Given the description of an element on the screen output the (x, y) to click on. 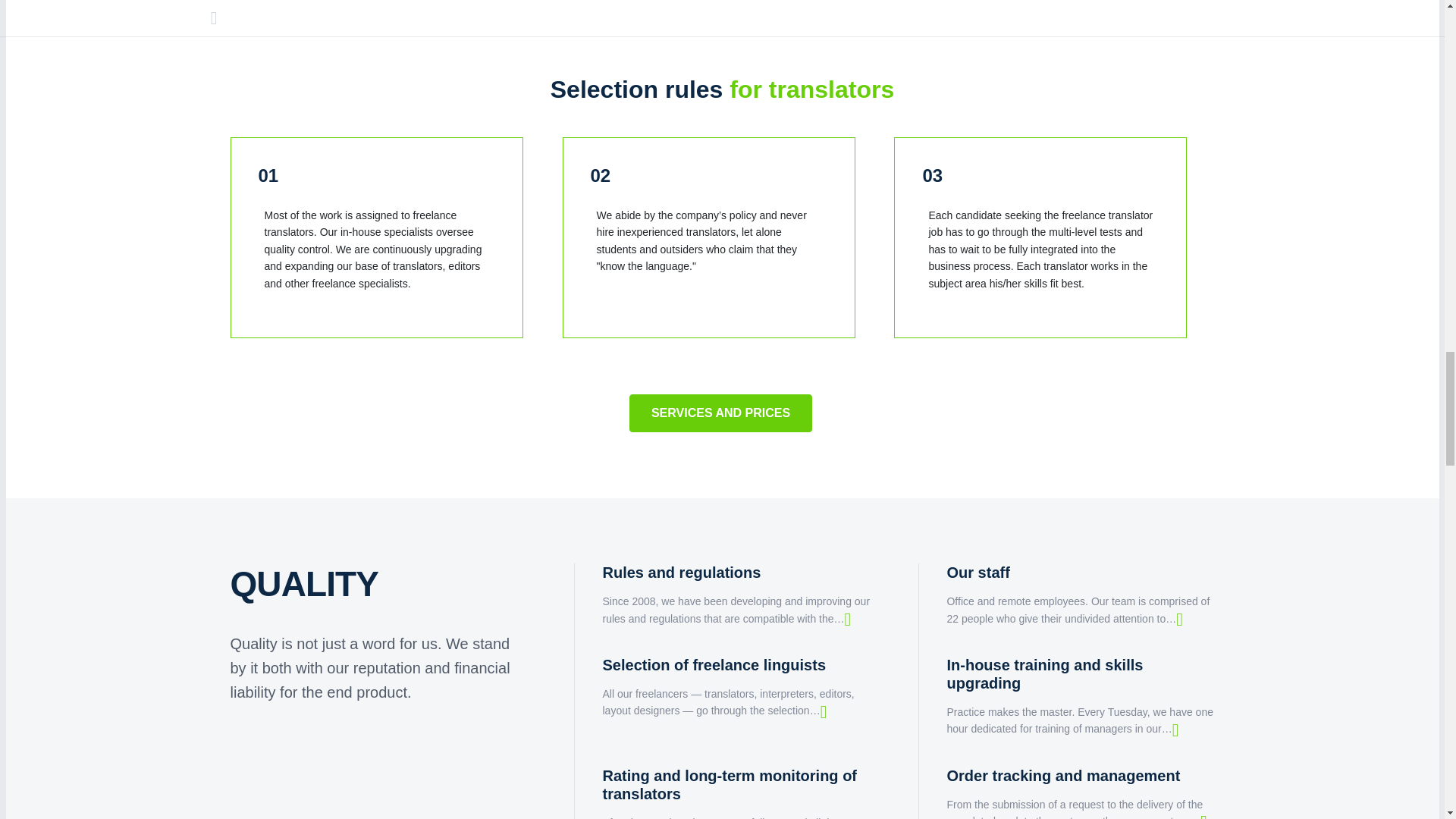
SERVICES AND PRICES (720, 412)
